Given the description of an element on the screen output the (x, y) to click on. 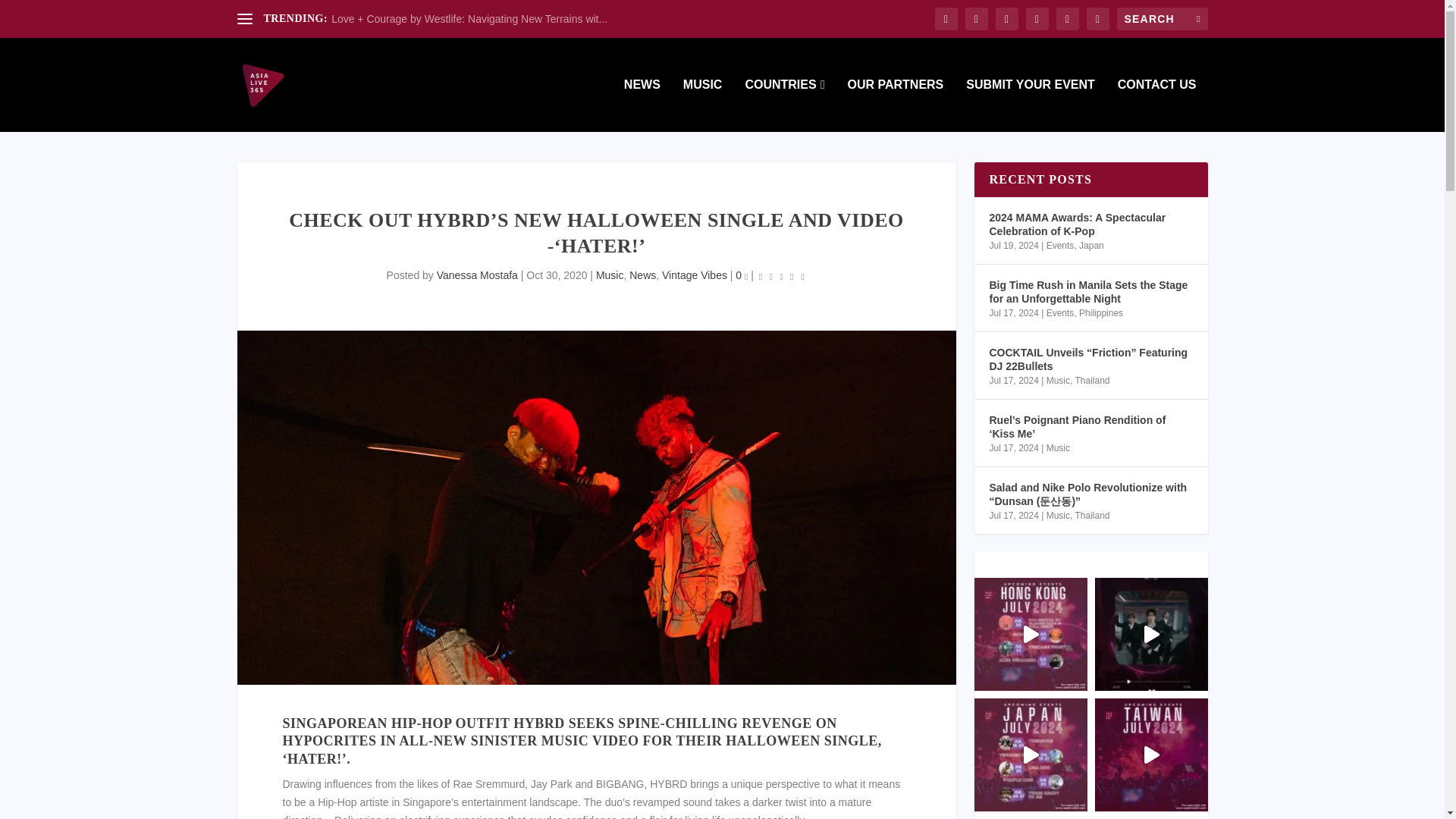
Search for: (1161, 18)
SUBMIT YOUR EVENT (1030, 104)
Posts by Vanessa Mostafa (477, 275)
Rating: 0.00 (781, 275)
COUNTRIES (784, 104)
OUR PARTNERS (895, 104)
CONTACT US (1157, 104)
